Given the description of an element on the screen output the (x, y) to click on. 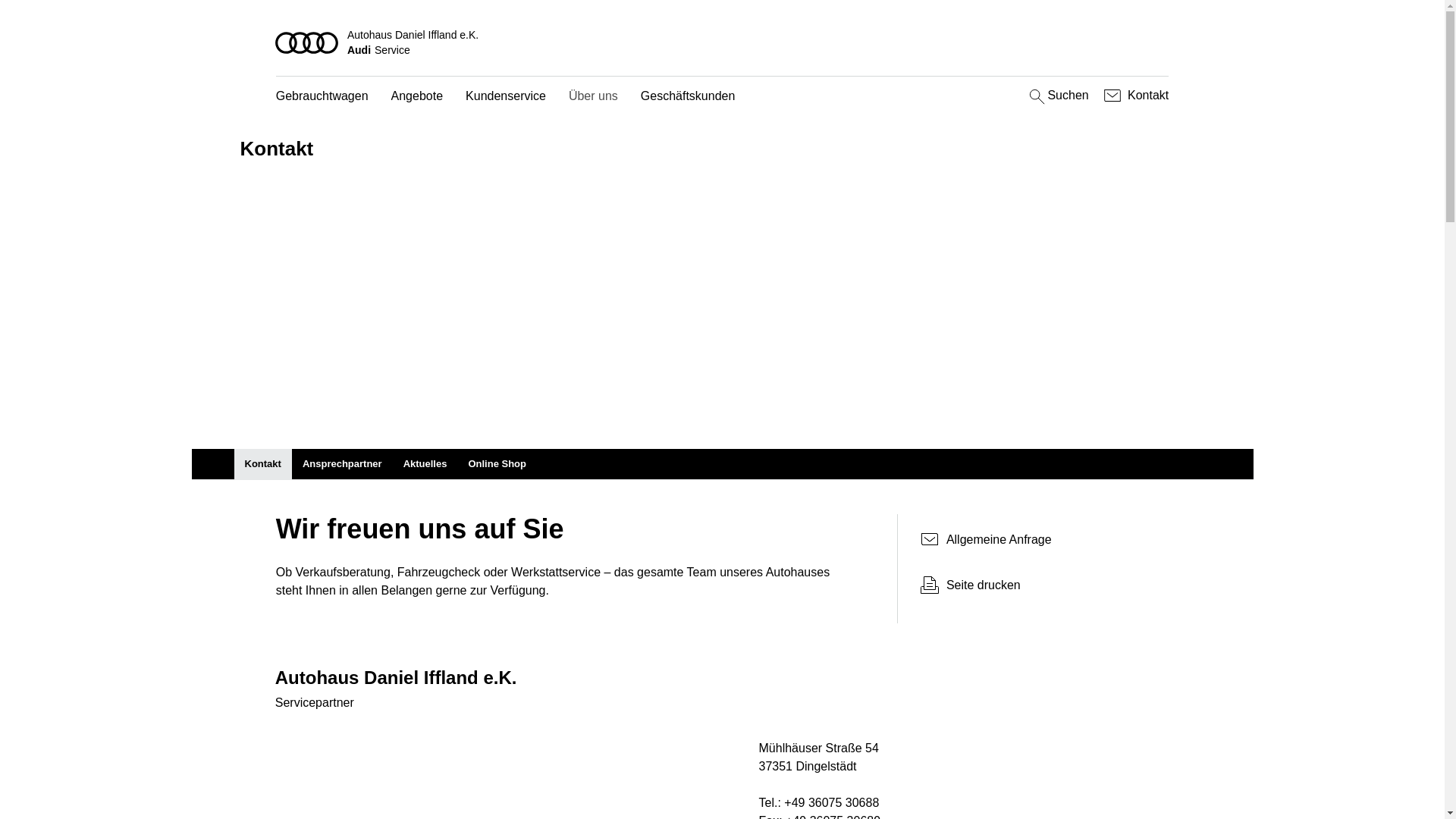
Angebote Element type: text (417, 96)
Gebrauchtwagen Element type: text (322, 96)
+49 36075 30688 Element type: text (831, 802)
Kontakt Element type: text (1134, 95)
Suchen Element type: text (1056, 95)
Seite drucken Element type: text (1044, 585)
Kundenservice Element type: text (505, 96)
Ansprechpartner Element type: text (341, 463)
Allgemeine Anfrage Element type: text (1038, 539)
Kontakt Element type: text (262, 463)
Online Shop Element type: text (496, 463)
Autohaus Daniel Iffland e.K.
AudiService Element type: text (722, 42)
Aktuelles Element type: text (425, 463)
